Given the description of an element on the screen output the (x, y) to click on. 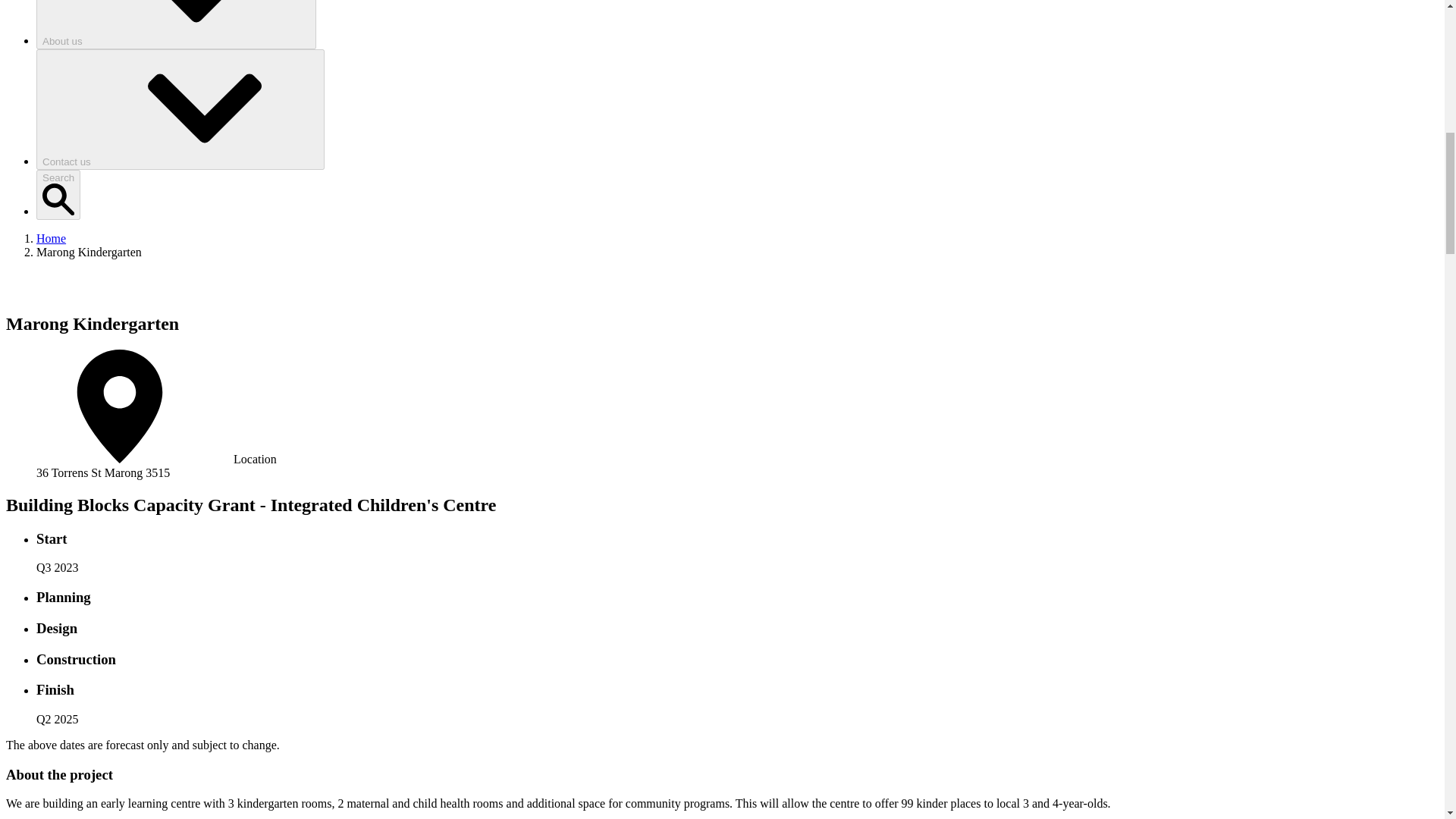
Home (50, 237)
